Given the description of an element on the screen output the (x, y) to click on. 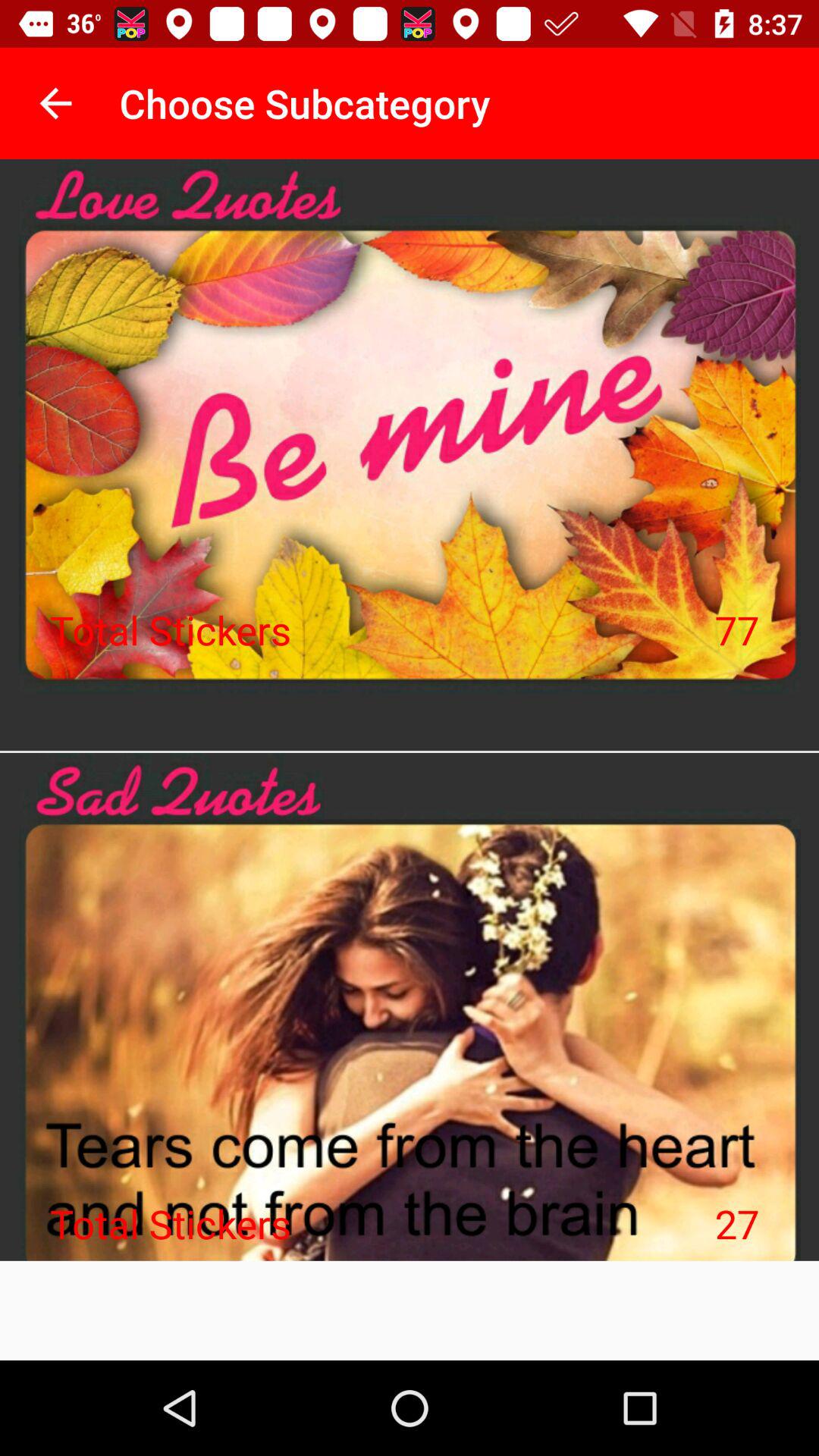
click icon next to choose subcategory item (55, 103)
